Given the description of an element on the screen output the (x, y) to click on. 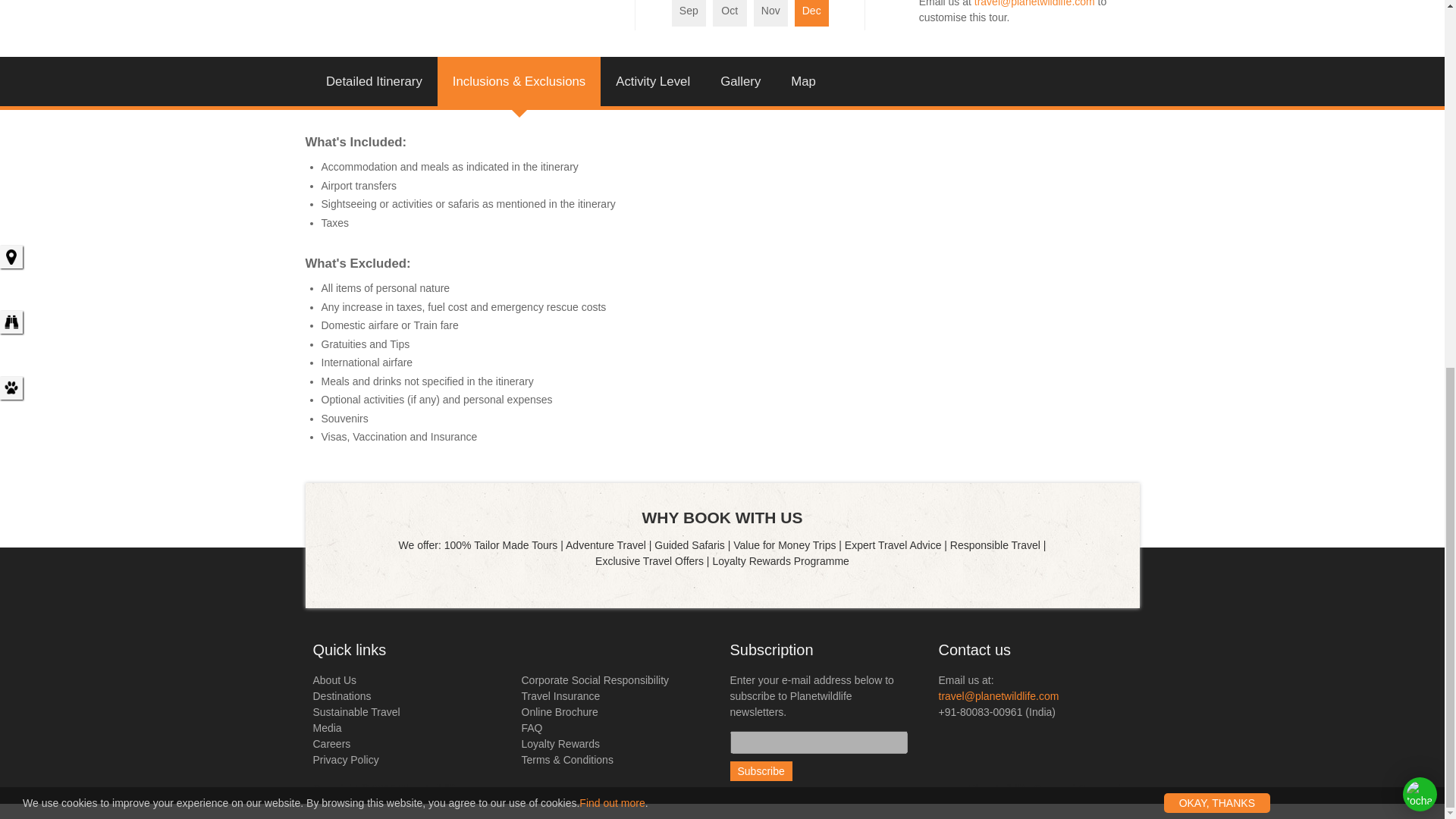
Subscribe (760, 771)
